Given the description of an element on the screen output the (x, y) to click on. 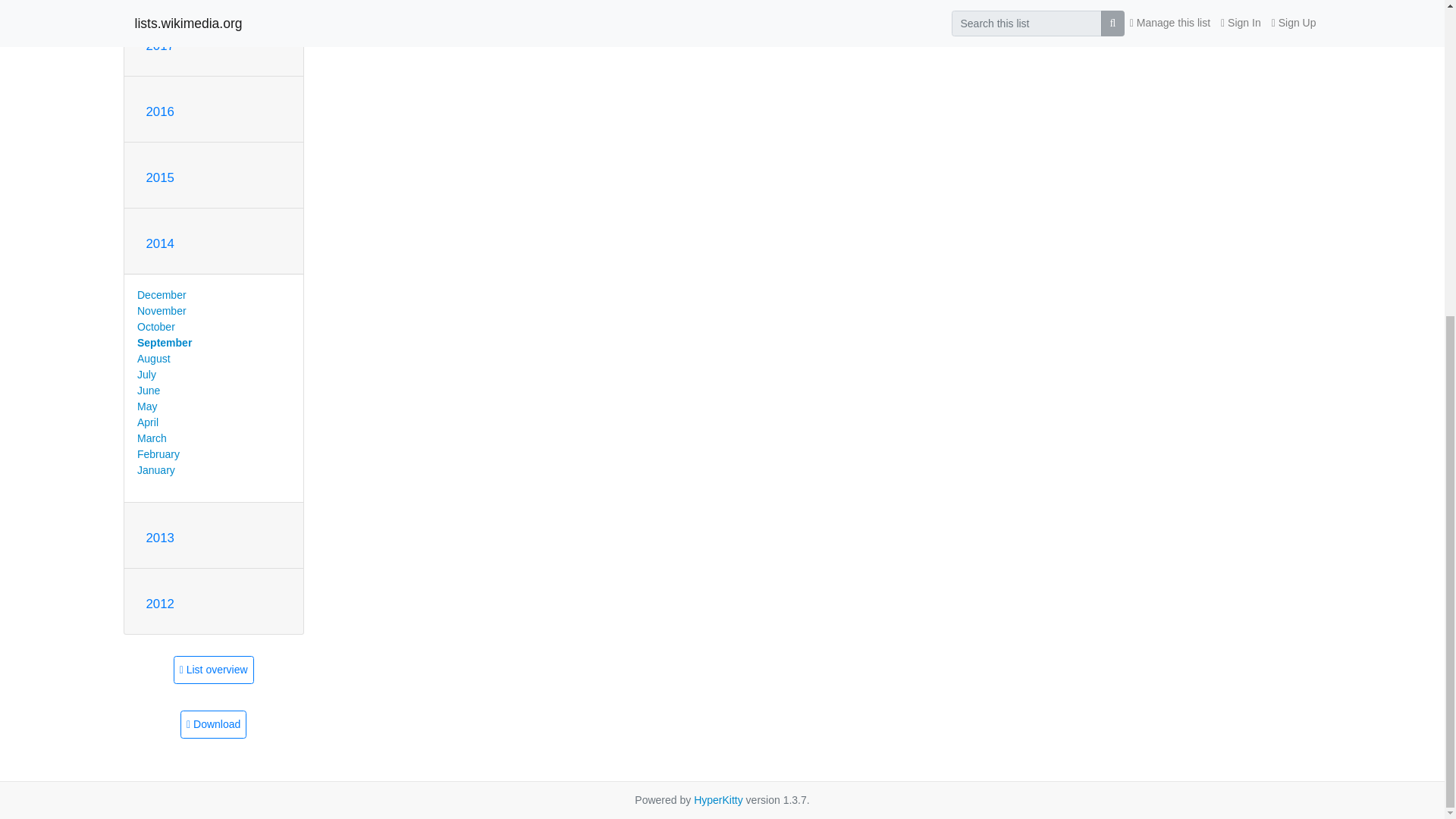
This month in gzipped mbox format (213, 724)
